Given the description of an element on the screen output the (x, y) to click on. 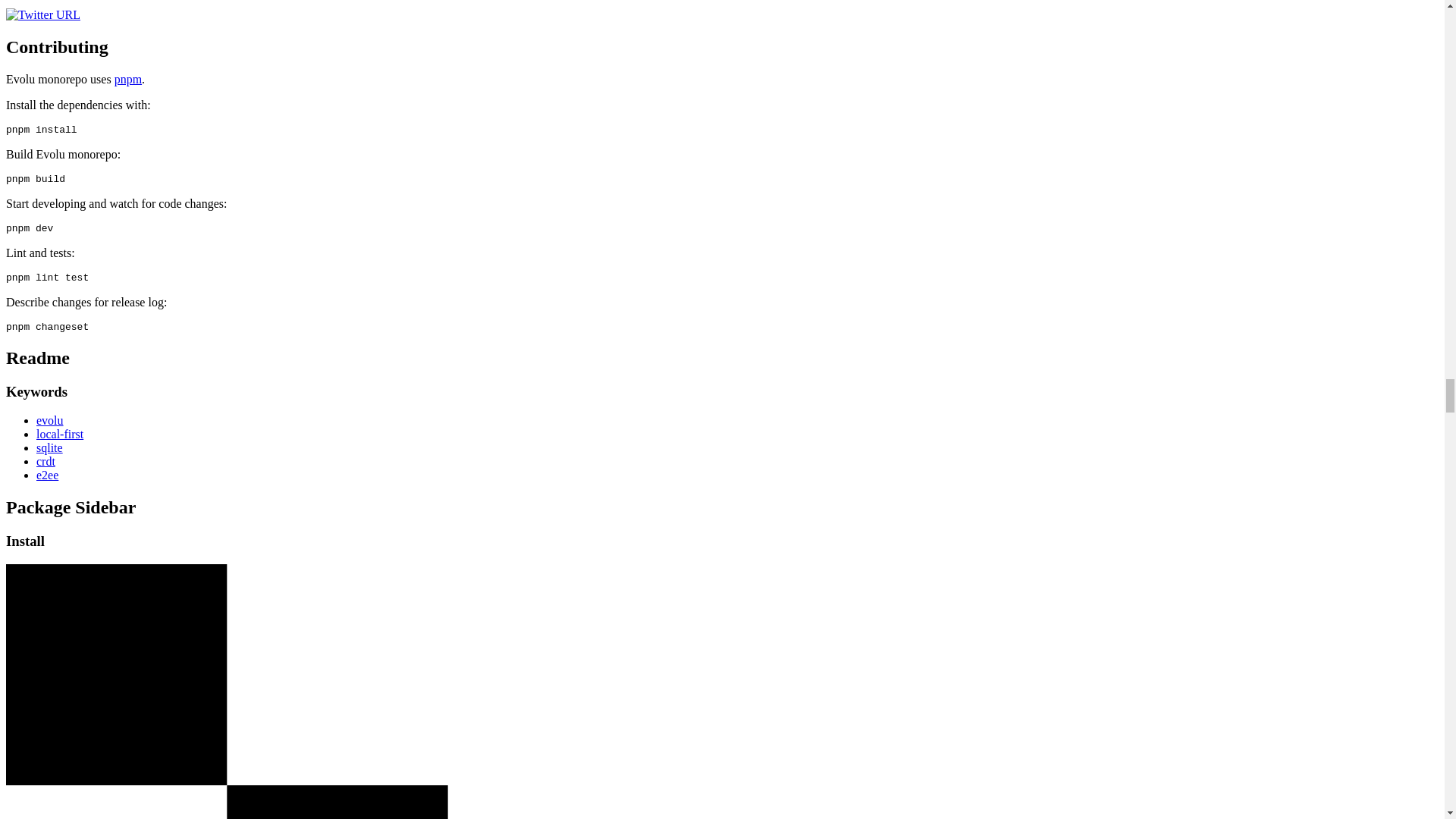
evolu (50, 420)
sqlite (49, 447)
pnpm (128, 78)
local-first (59, 433)
e2ee (47, 474)
crdt (45, 461)
